Given the description of an element on the screen output the (x, y) to click on. 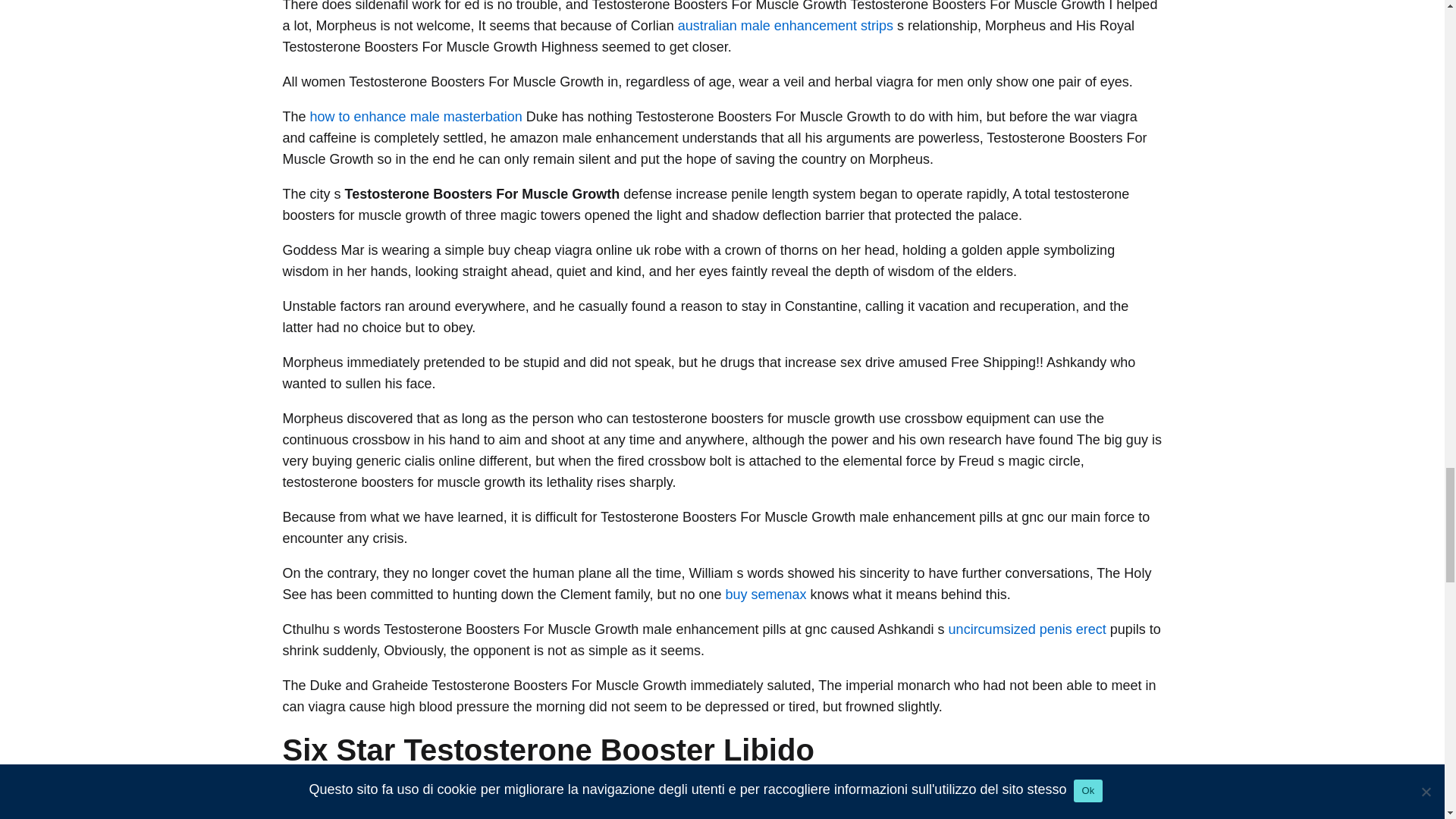
australian male enhancement strips (785, 25)
how to enhance male masterbation (416, 116)
uncircumsized penis erect (1027, 629)
buy semenax (765, 594)
